Given the description of an element on the screen output the (x, y) to click on. 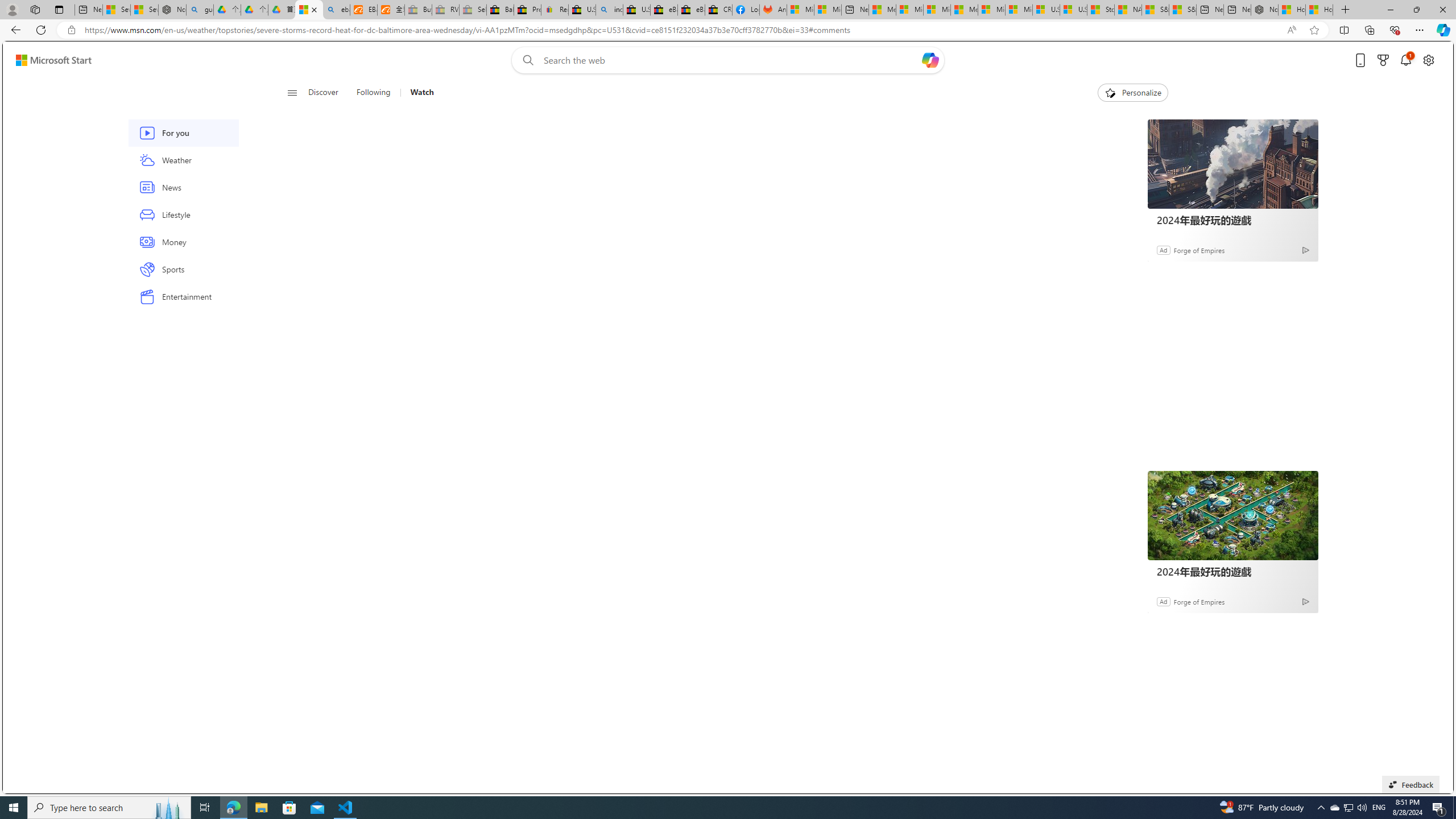
Press Room - eBay Inc. (527, 9)
Microsoft account | Home (936, 9)
Personalize (1132, 92)
Skip to footer (46, 59)
eBay Inc. Reports Third Quarter 2023 Results (691, 9)
